Given the description of an element on the screen output the (x, y) to click on. 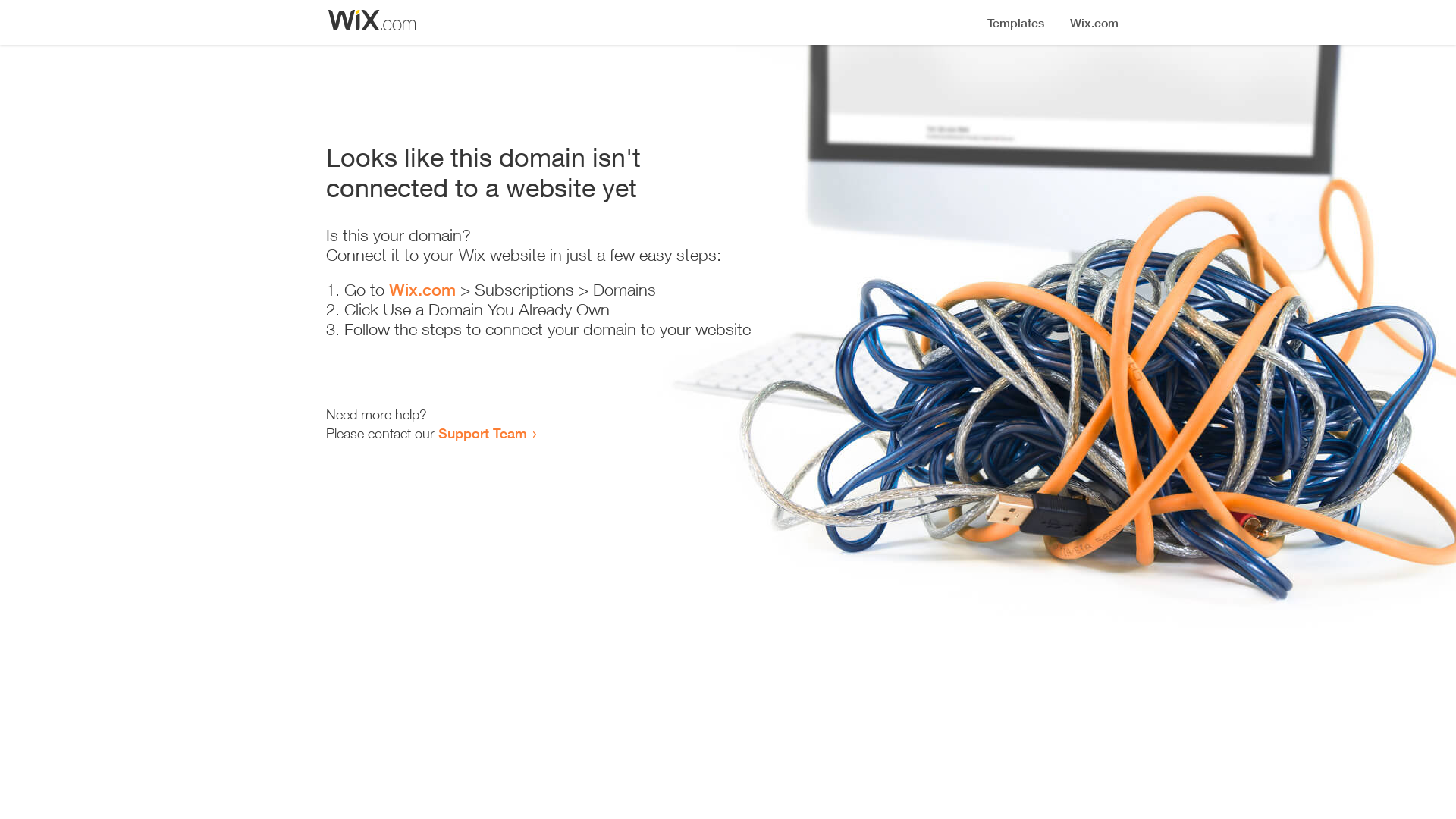
Support Team Element type: text (482, 432)
Wix.com Element type: text (422, 289)
